Given the description of an element on the screen output the (x, y) to click on. 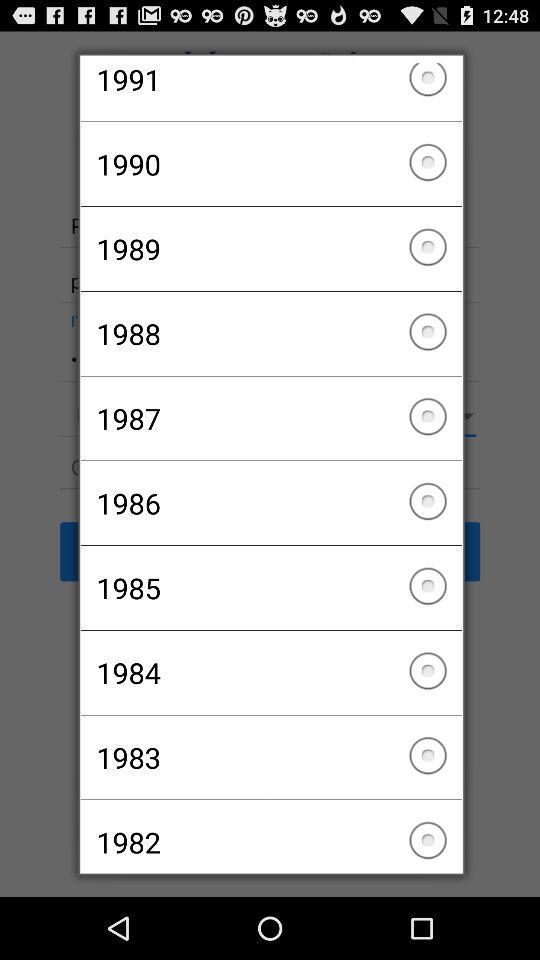
press the checkbox above 1990 icon (270, 92)
